Given the description of an element on the screen output the (x, y) to click on. 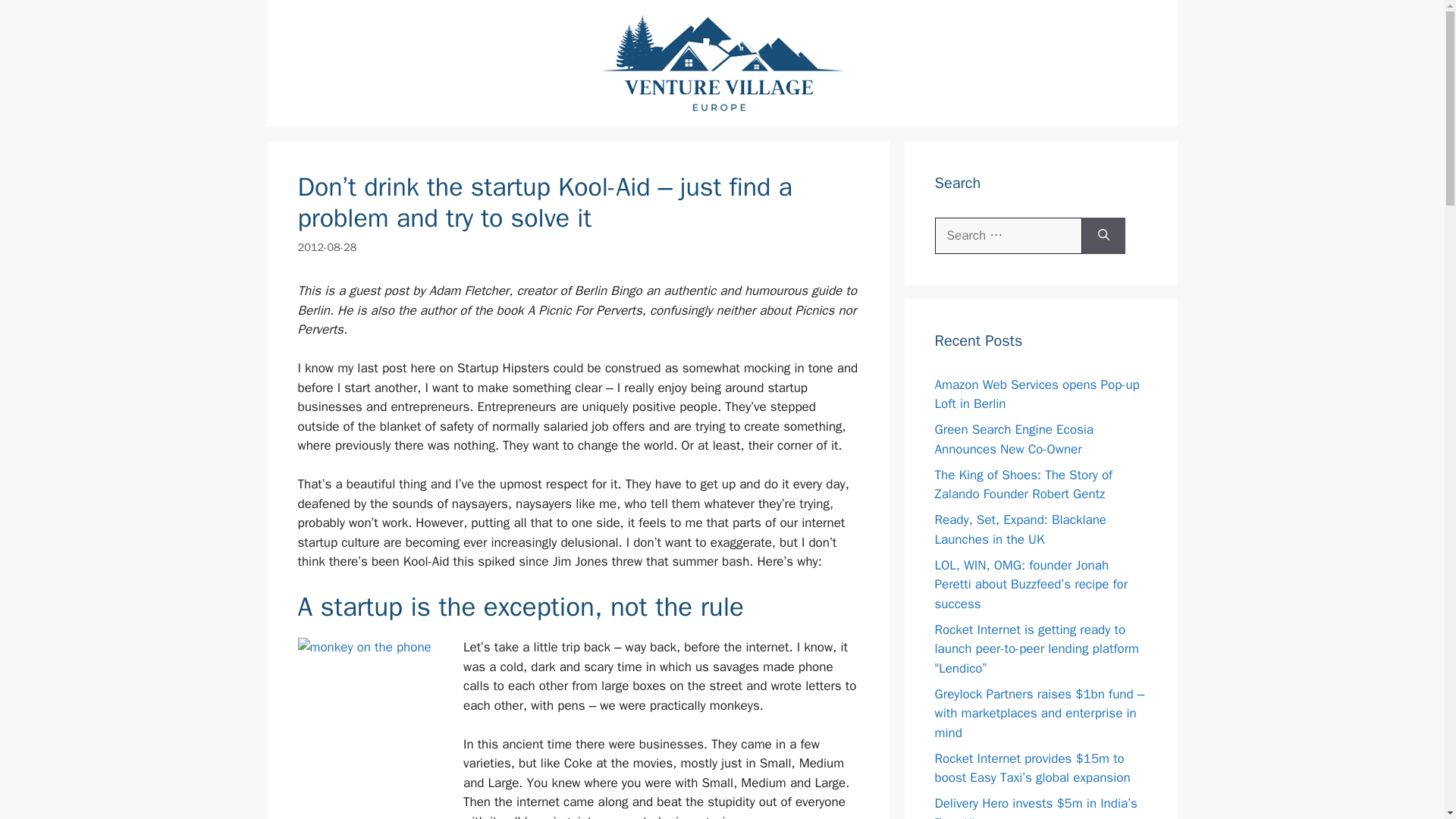
Search for: (1007, 235)
The King of Shoes: The Story of Zalando Founder Robert Gentz (1023, 484)
Green Search Engine Ecosia Announces New Co-Owner (1013, 439)
Amazon Web Services opens Pop-up Loft in Berlin (1036, 393)
Ready, Set, Expand: Blacklane Launches in the UK (1019, 529)
